Given the description of an element on the screen output the (x, y) to click on. 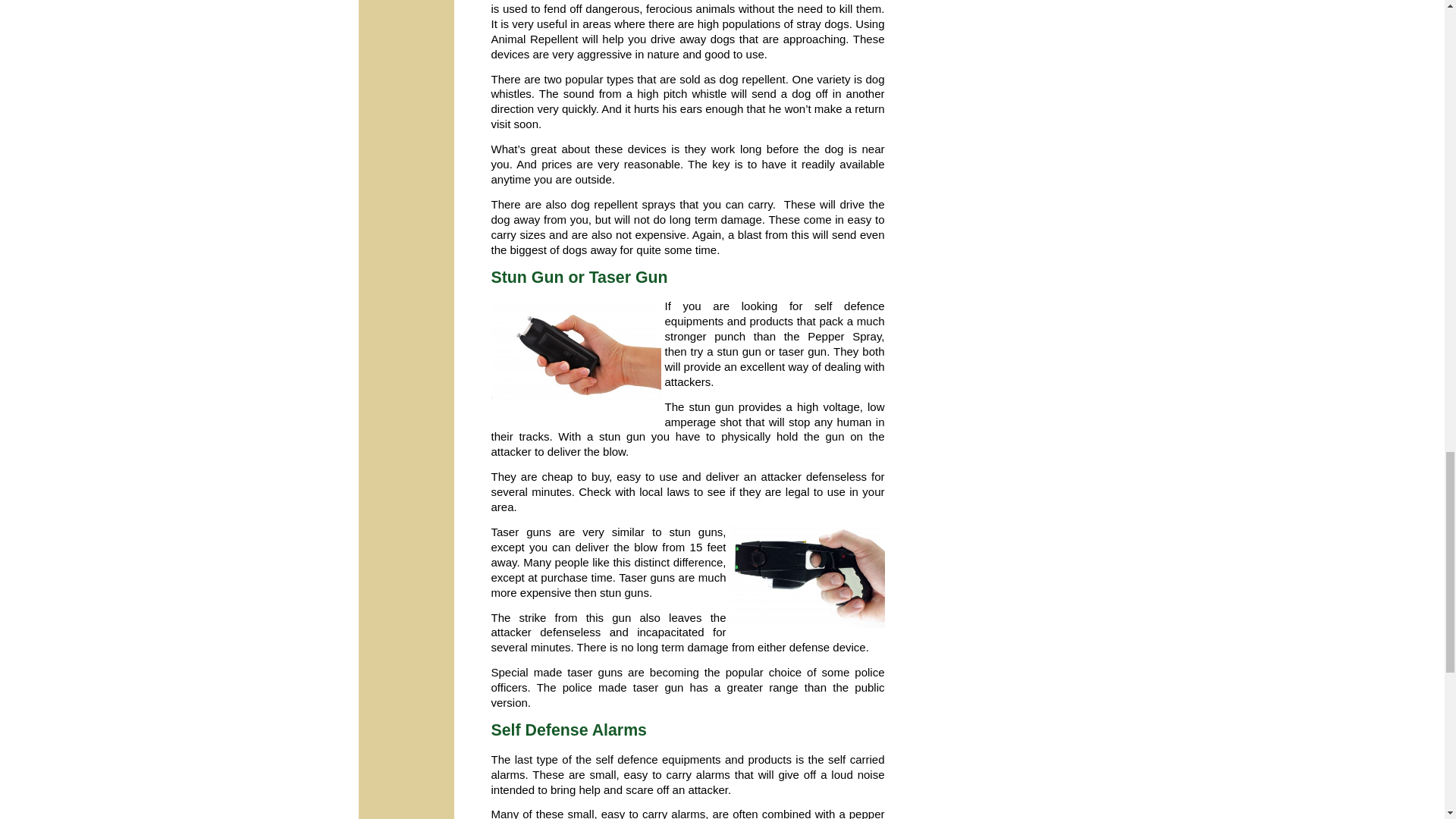
 This is a stun gun   (576, 355)
 This is a taser gun   (806, 576)
